Given the description of an element on the screen output the (x, y) to click on. 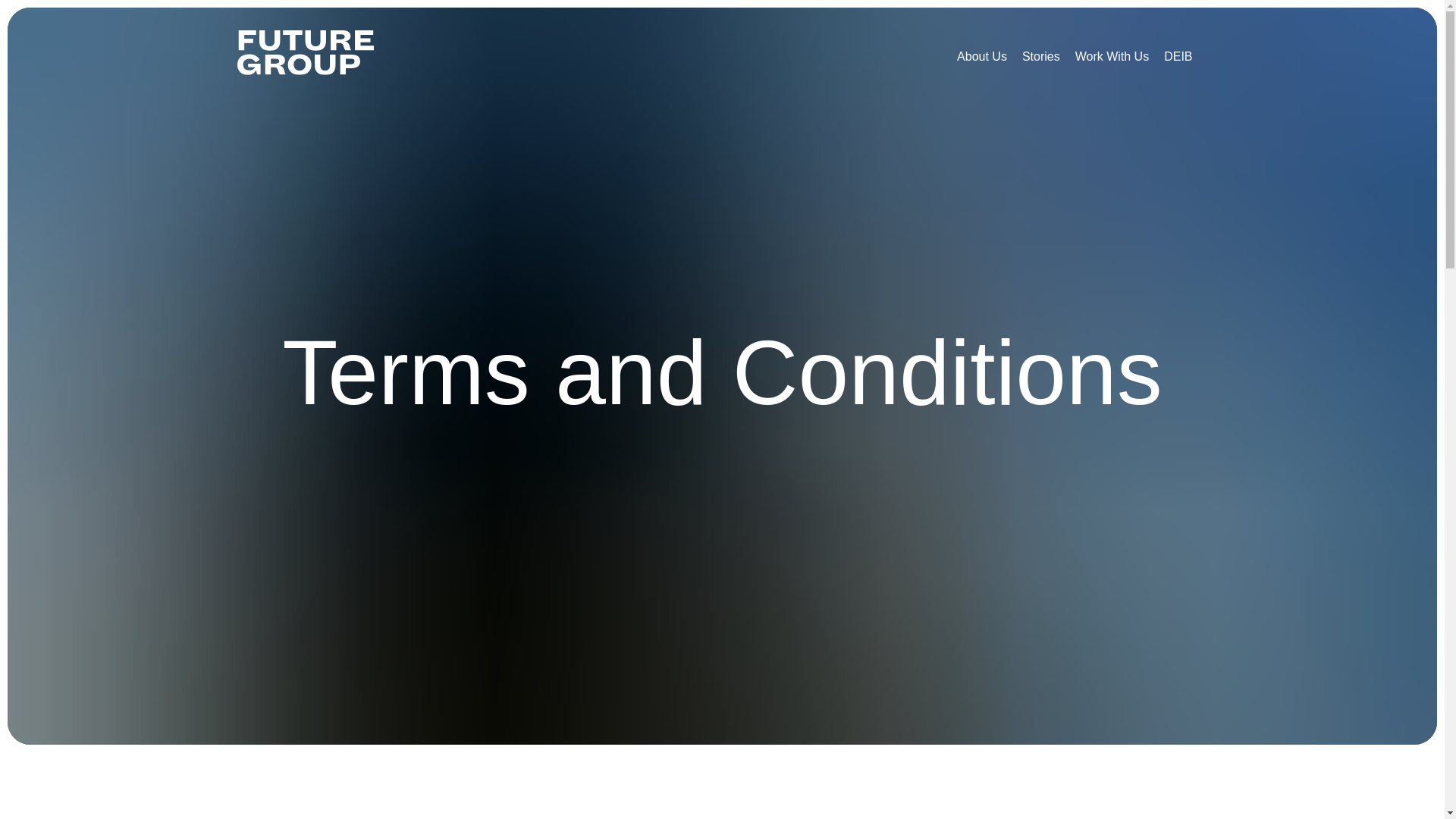
Stories (1040, 56)
Work With Us (1111, 56)
DEIB (1177, 56)
About Us (981, 56)
